Given the description of an element on the screen output the (x, y) to click on. 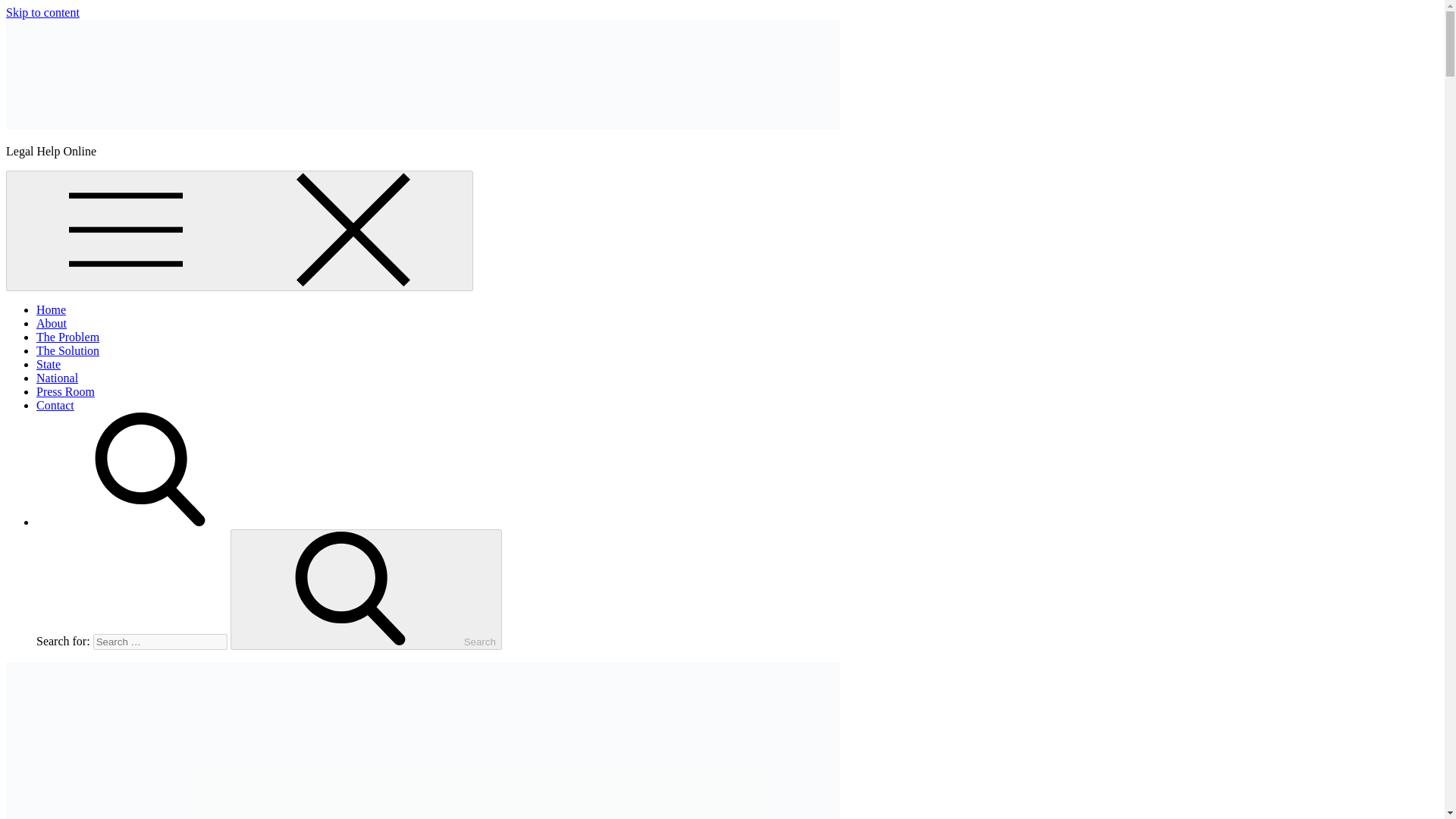
About (51, 323)
The Problem (67, 336)
National (57, 377)
Home (50, 309)
Contact (55, 404)
Search (366, 589)
Press Room (65, 391)
The Solution (67, 350)
State (48, 364)
Skip to content (42, 11)
